Given the description of an element on the screen output the (x, y) to click on. 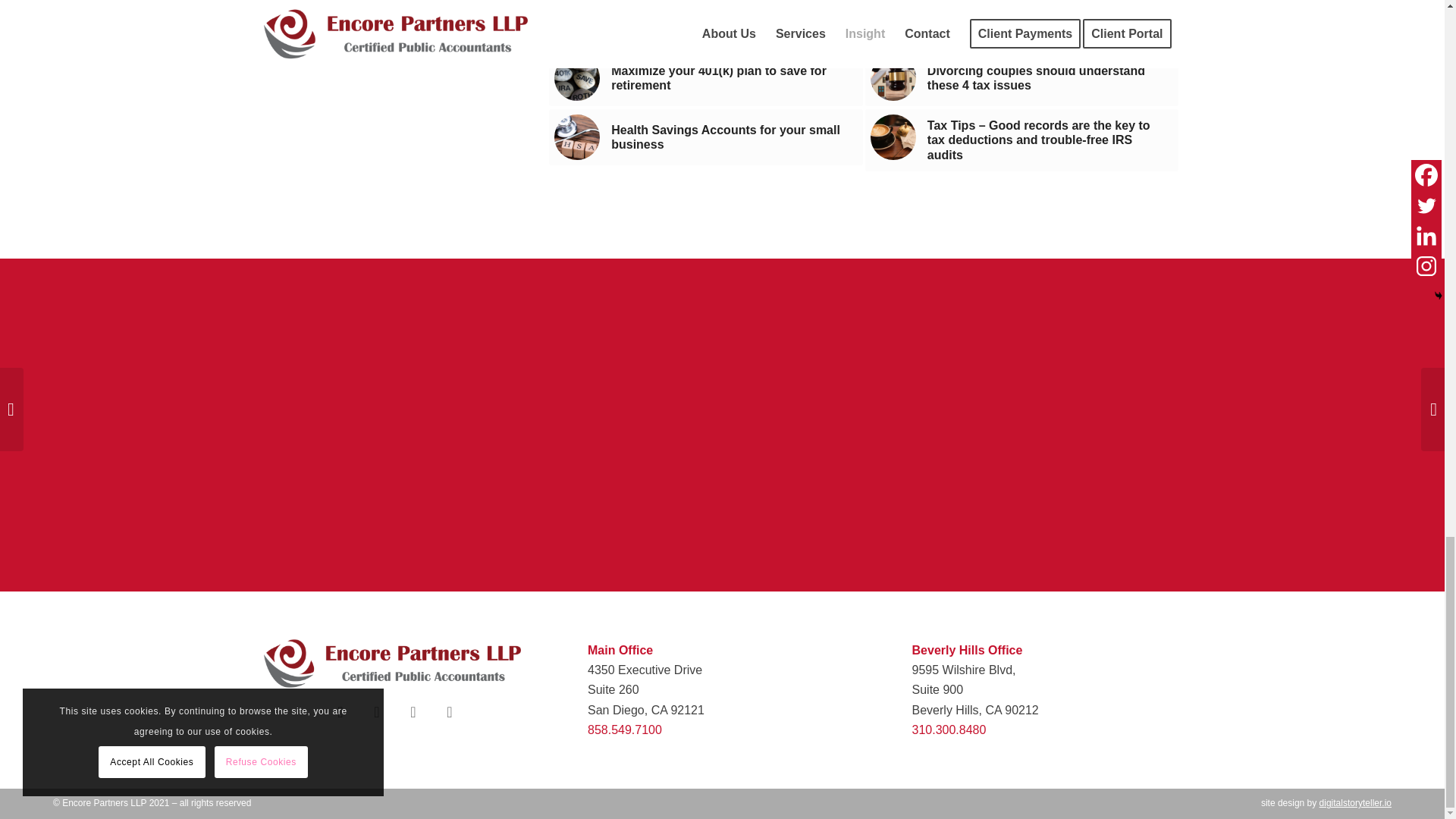
Take advantage of the heavy SUV tax break (705, 23)
Fall (892, 20)
Health Savings Accounts for your small business (705, 136)
Year-end tax planning ideas for individuals (1021, 23)
Divorcing couples should understand these 4 tax issues (1021, 77)
Take advantage of the heavy SUV tax break (705, 23)
Heavy Vehicle exemptions (576, 20)
Year-end tax planning ideas for individuals (1021, 23)
